Given the description of an element on the screen output the (x, y) to click on. 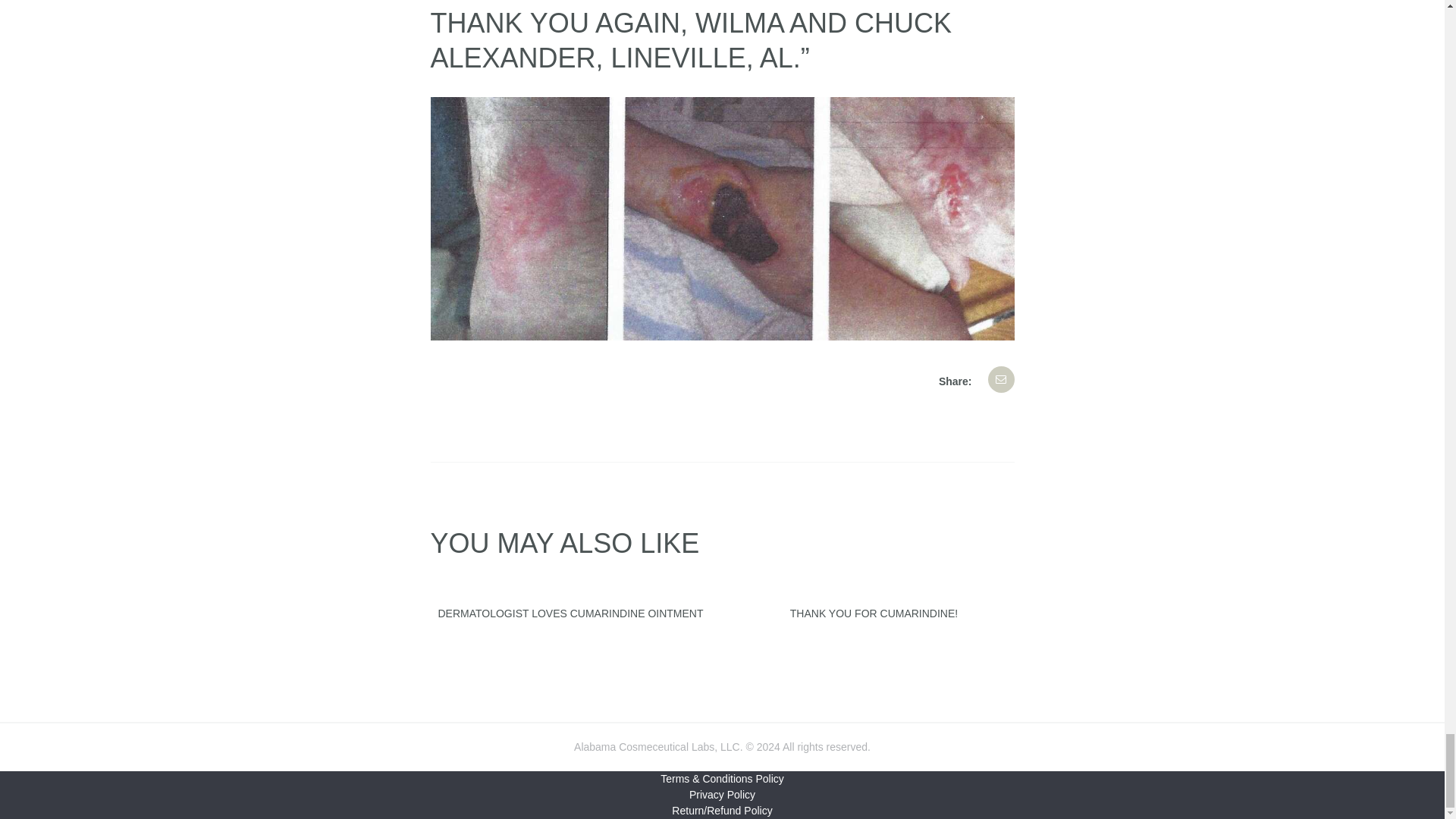
DERMATOLOGIST LOVES CUMARINDINE OINTMENT (570, 613)
THANK YOU FOR CUMARINDINE! (873, 613)
Privacy Policy (721, 794)
